Given the description of an element on the screen output the (x, y) to click on. 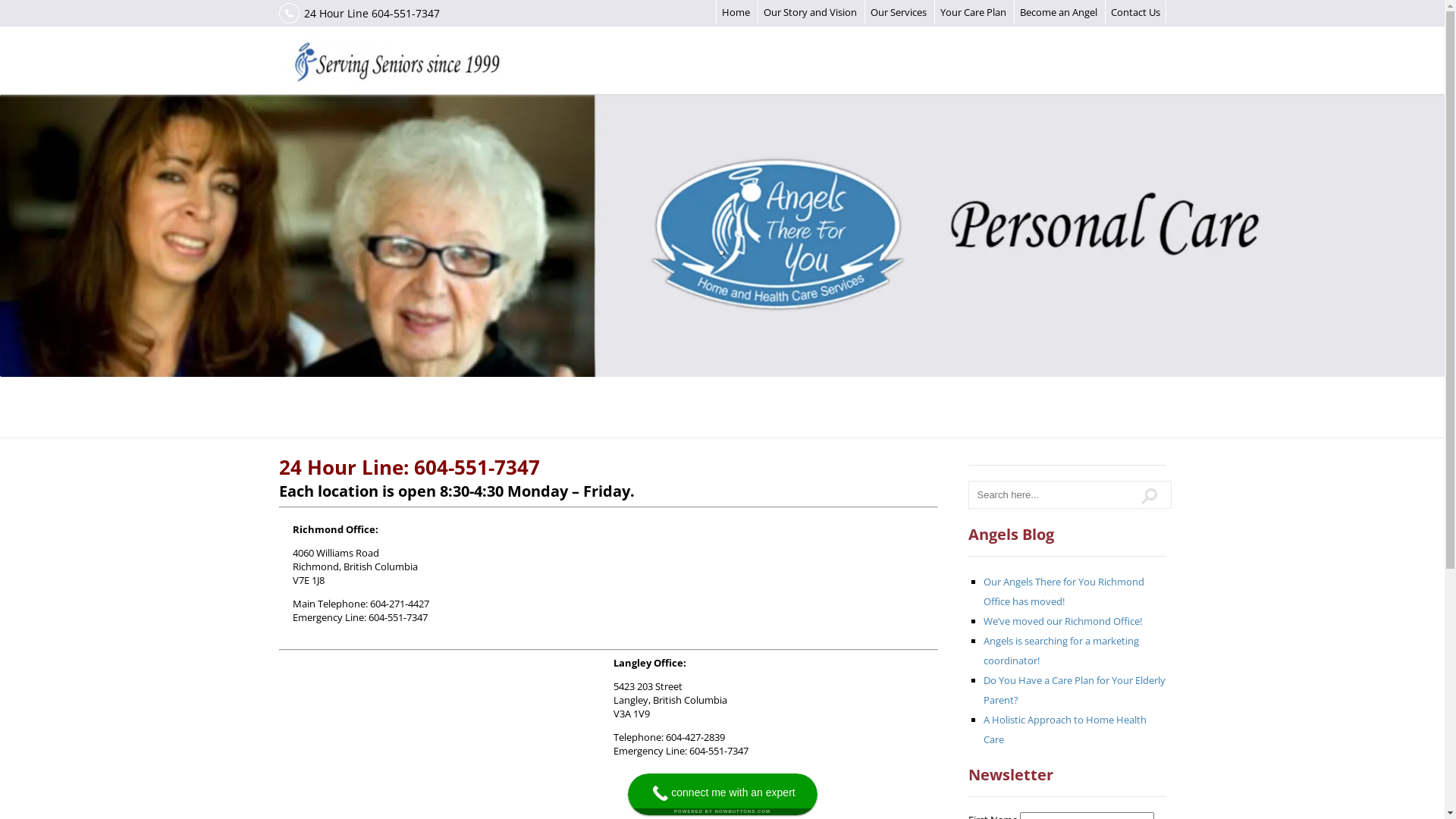
A Holistic Approach to Home Health Care Element type: text (1064, 729)
Angels is searching for a marketing coordinator! Element type: text (1061, 650)
Do You Have a Care Plan for Your Elderly Parent? Element type: text (1074, 689)
call
connect me with an expert Element type: text (722, 794)
Our Story and Vision Element type: text (809, 11)
Contact Us Element type: text (1134, 11)
Our Angels There for You Richmond Office has moved! Element type: text (1063, 591)
Our Services Element type: text (898, 11)
Become an Angel Element type: text (1057, 11)
Your Care Plan Element type: text (973, 11)
Home Element type: text (735, 11)
